Given the description of an element on the screen output the (x, y) to click on. 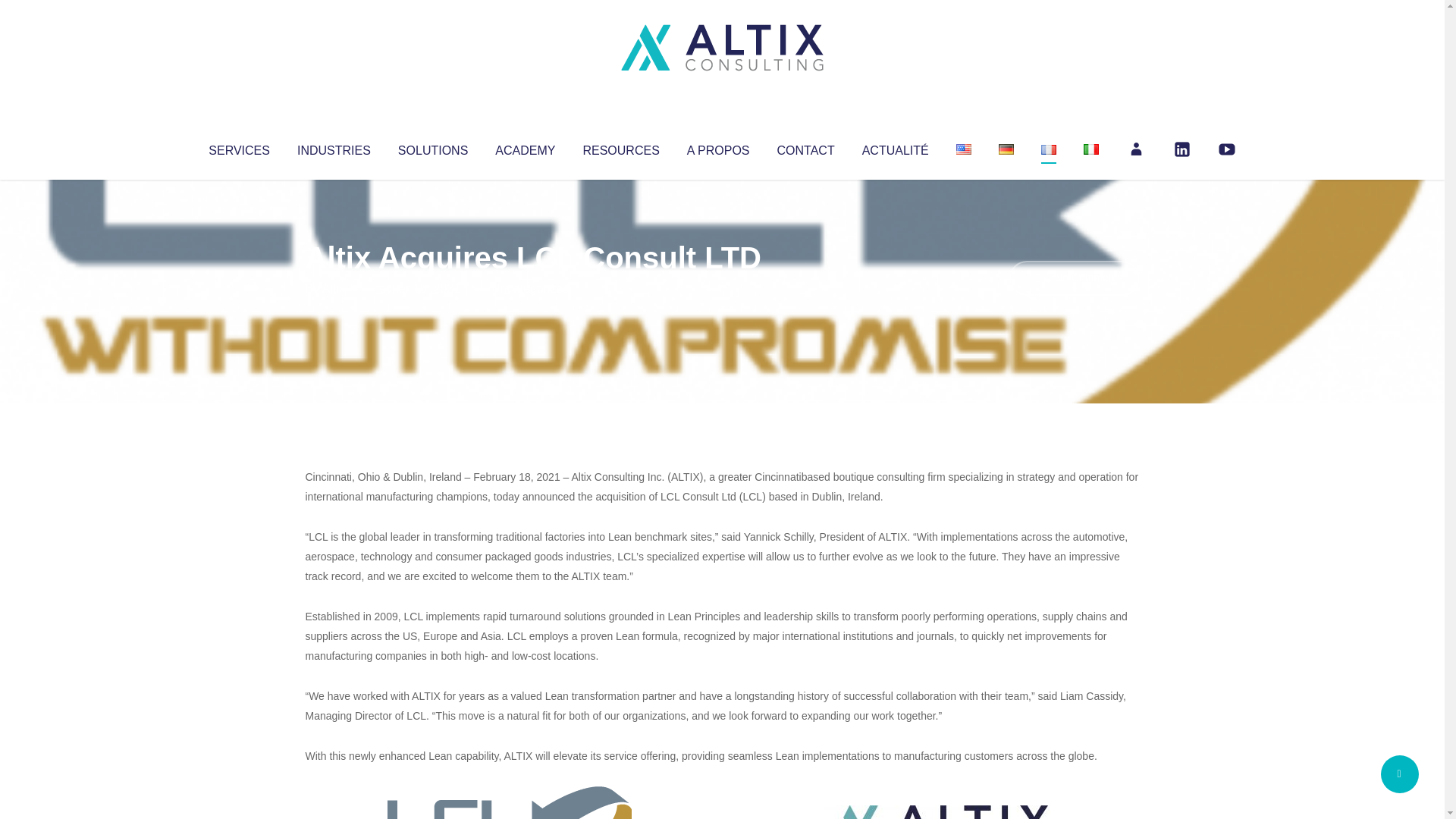
Uncategorized (530, 287)
Altix (333, 287)
A PROPOS (718, 146)
No Comments (1073, 278)
ACADEMY (524, 146)
SOLUTIONS (432, 146)
RESOURCES (620, 146)
Articles par Altix (333, 287)
SERVICES (238, 146)
INDUSTRIES (334, 146)
